Given the description of an element on the screen output the (x, y) to click on. 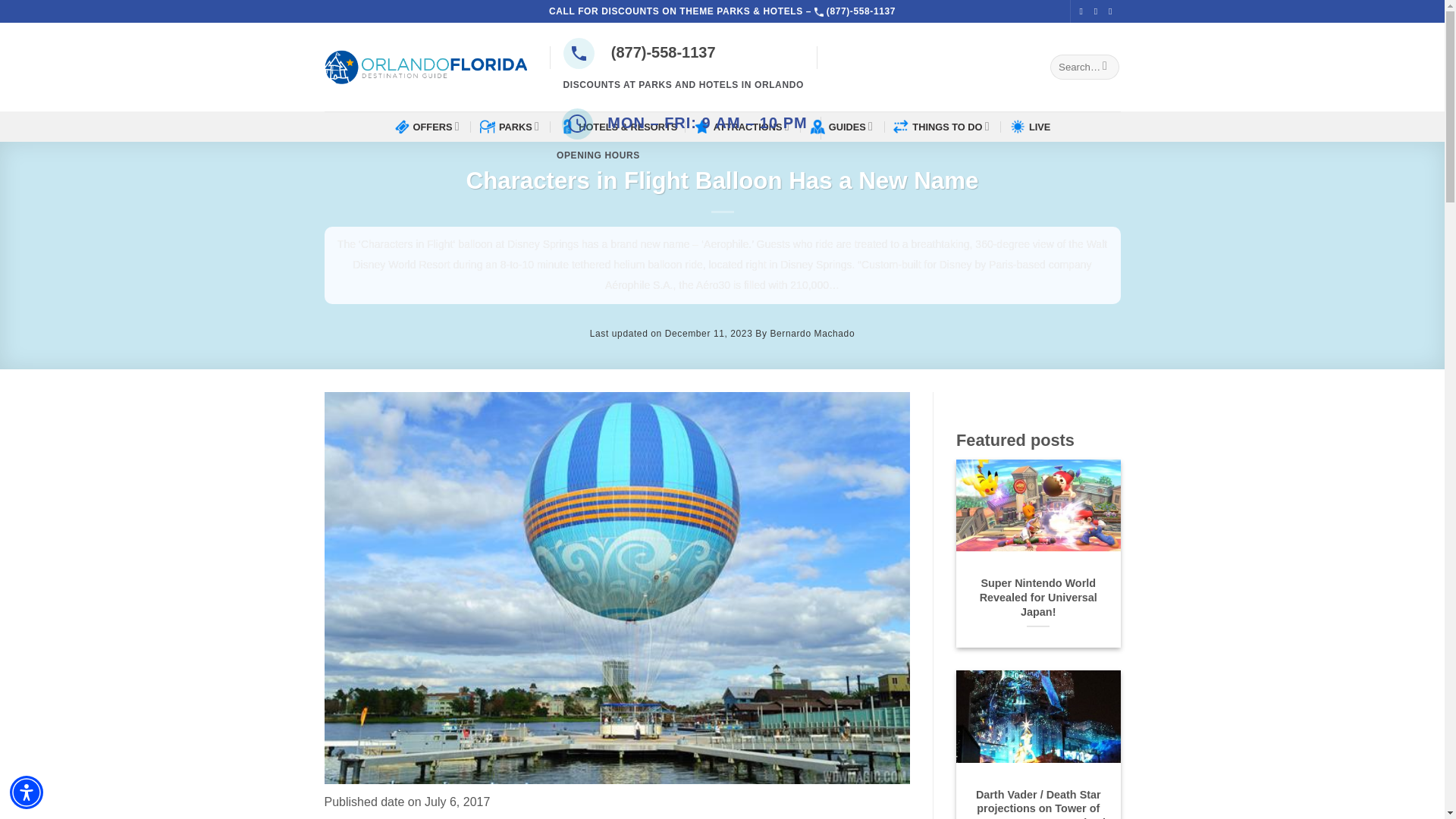
PARKS (511, 126)
OFFERS (428, 126)
Accessibility Menu (26, 792)
